Given the description of an element on the screen output the (x, y) to click on. 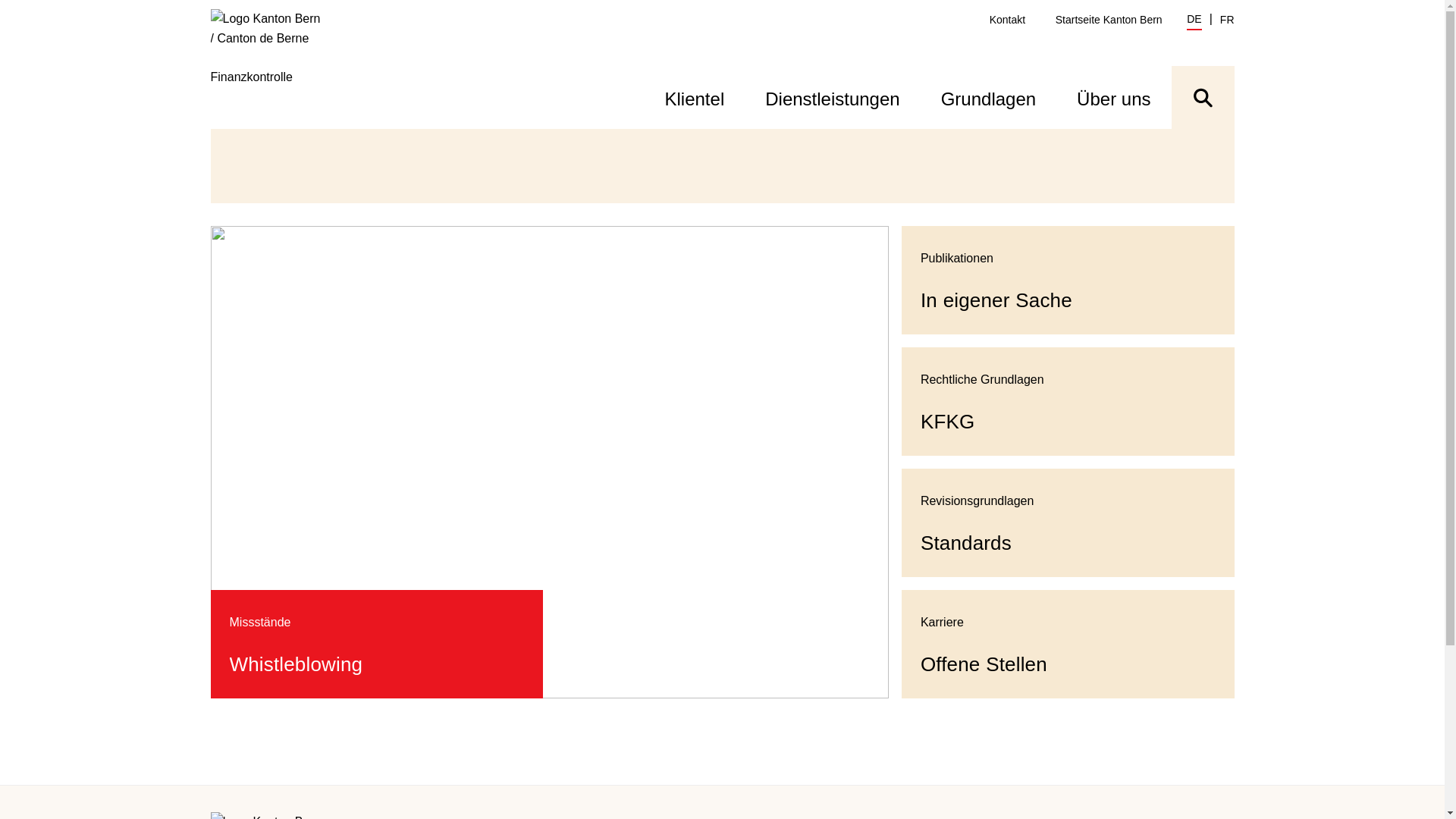
Suche ein- oder ausblenden Element type: text (1201, 96)
Kontakt Element type: text (1007, 19)
Finanzkontrolle Element type: text (275, 68)
Standards
Revisionsgrundlagen Element type: text (1067, 522)
Klientel Element type: text (694, 96)
In eigener Sache
Publikationen Element type: text (1067, 279)
Dienstleistungen Element type: text (831, 96)
Grundlagen Element type: text (988, 96)
Startseite Kanton Bern Element type: text (1108, 19)
Offene Stellen
Karriere Element type: text (1067, 643)
KFKG
Rechtliche Grundlagen Element type: text (1067, 401)
FR Element type: text (1227, 19)
DE Element type: text (1193, 21)
